Given the description of an element on the screen output the (x, y) to click on. 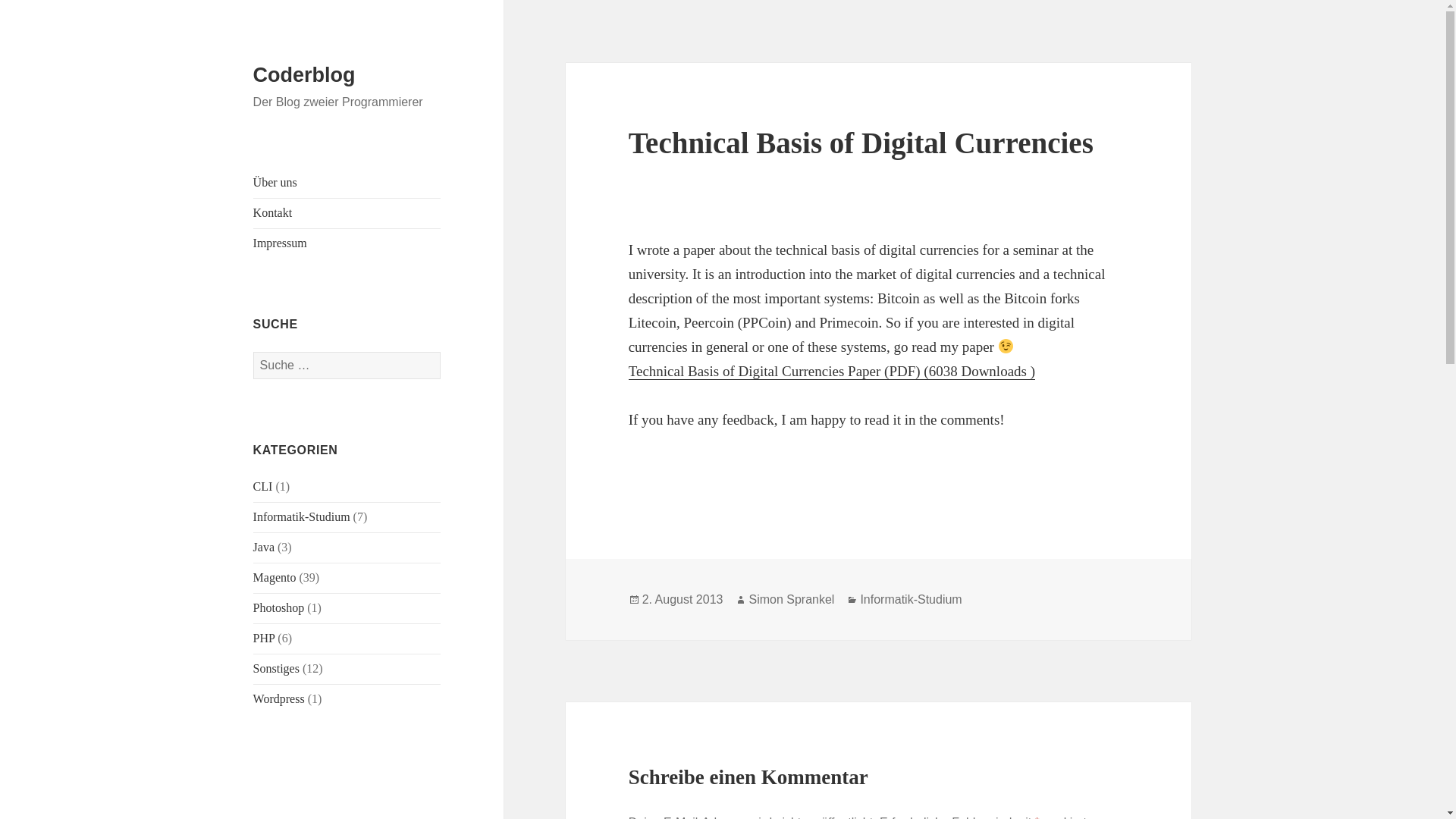
2. August 2013 (682, 599)
Informatik-Studium (301, 516)
Impressum (280, 242)
Simon Sprankel (791, 599)
PHP (264, 637)
Wordpress (278, 698)
Sonstiges (276, 667)
Informatik-Studium (910, 599)
Magento (275, 576)
Photoshop (278, 607)
CLI (263, 486)
Coderblog (304, 74)
Kontakt (272, 212)
